Given the description of an element on the screen output the (x, y) to click on. 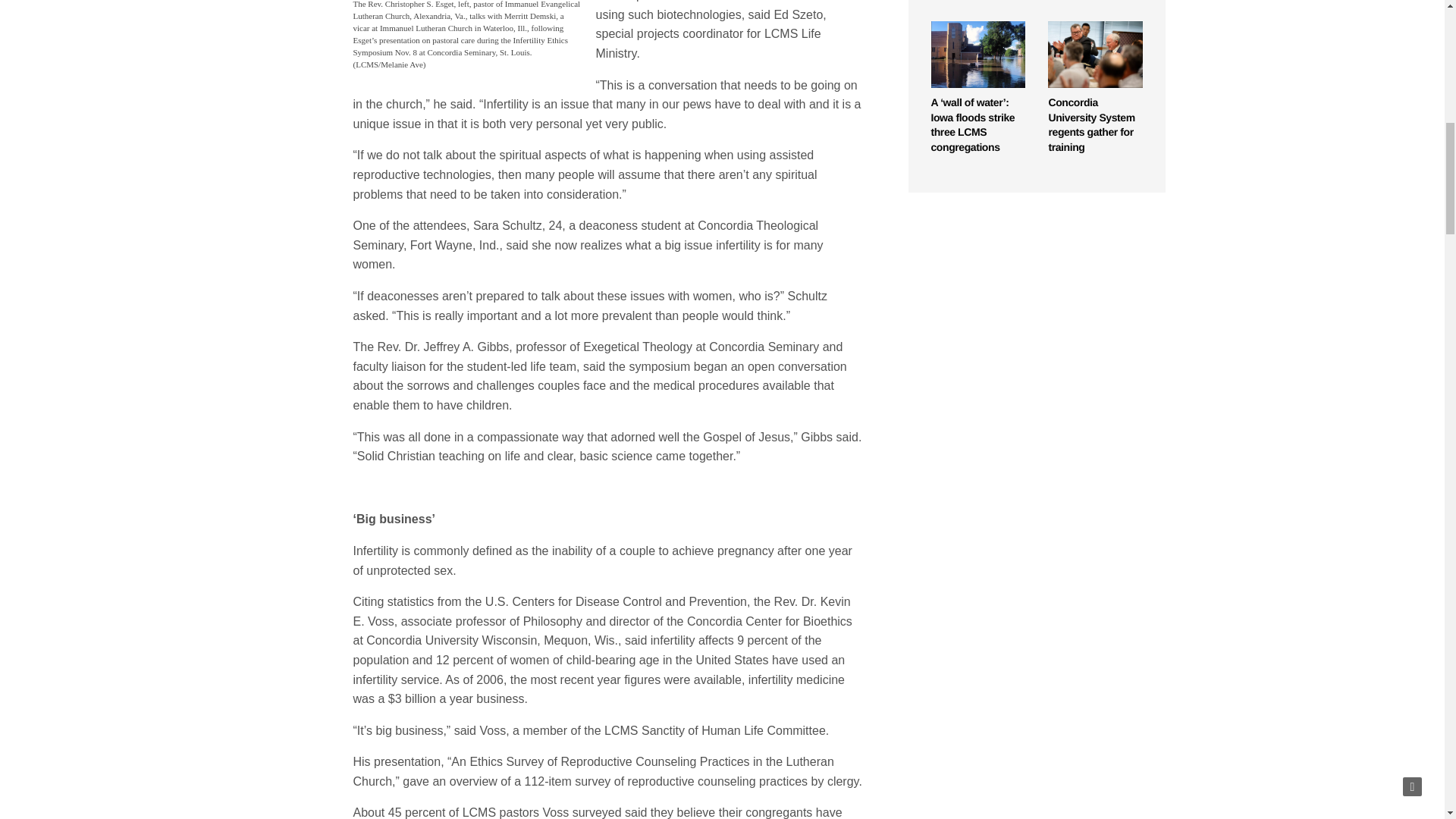
Concordia University System regents gather for training (1095, 54)
